Given the description of an element on the screen output the (x, y) to click on. 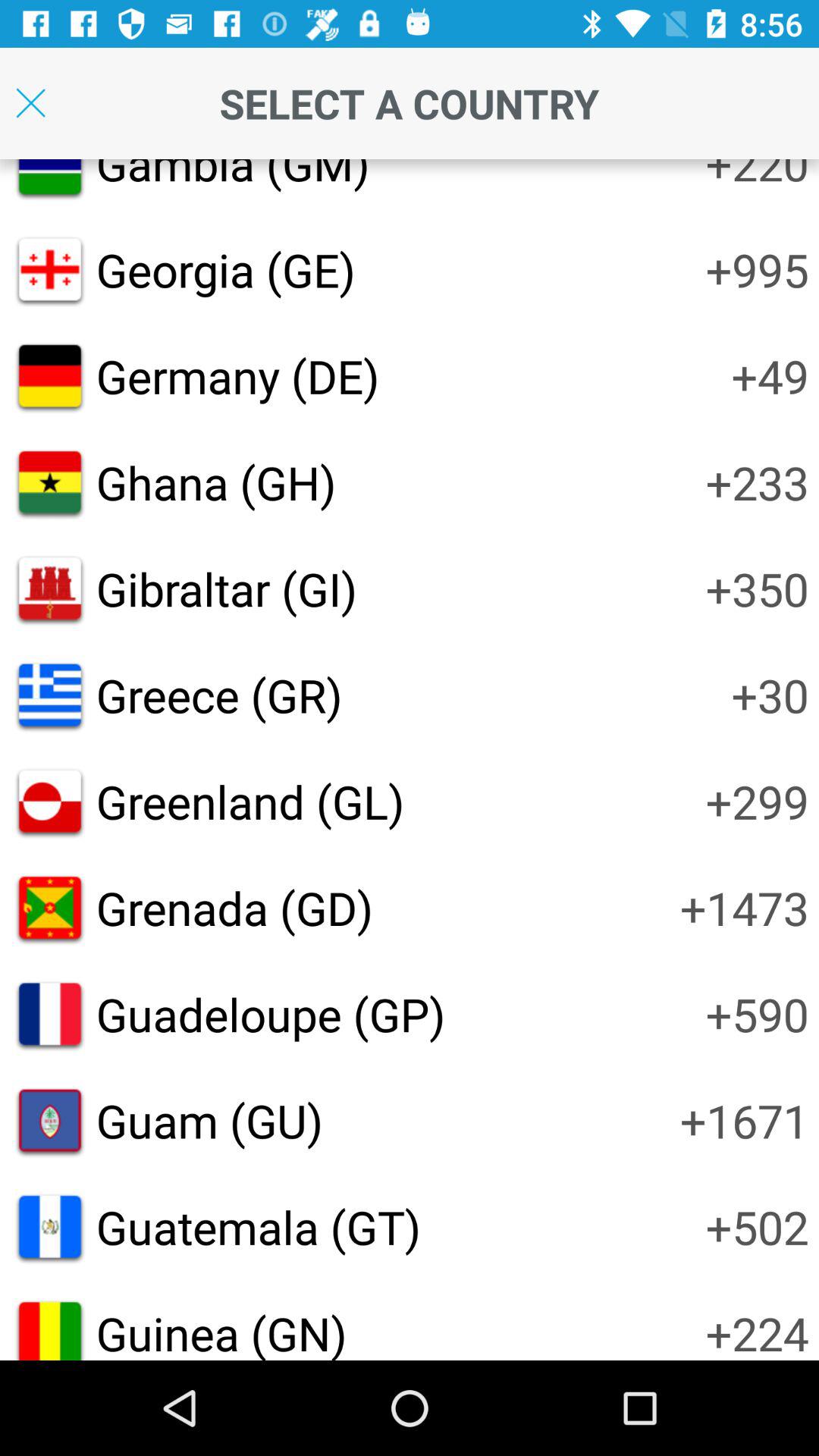
close option to select a country (30, 103)
